Given the description of an element on the screen output the (x, y) to click on. 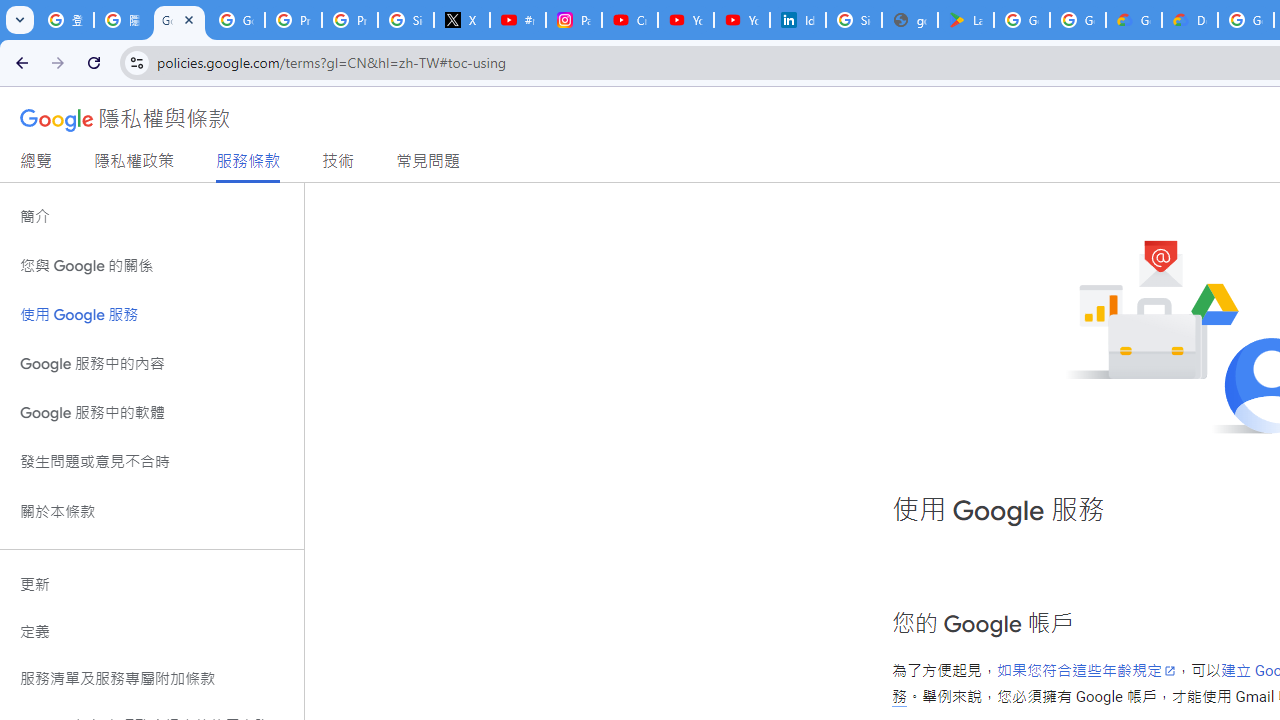
Privacy Help Center - Policies Help (293, 20)
Last Shelter: Survival - Apps on Google Play (966, 20)
Privacy Help Center - Policies Help (349, 20)
